Given the description of an element on the screen output the (x, y) to click on. 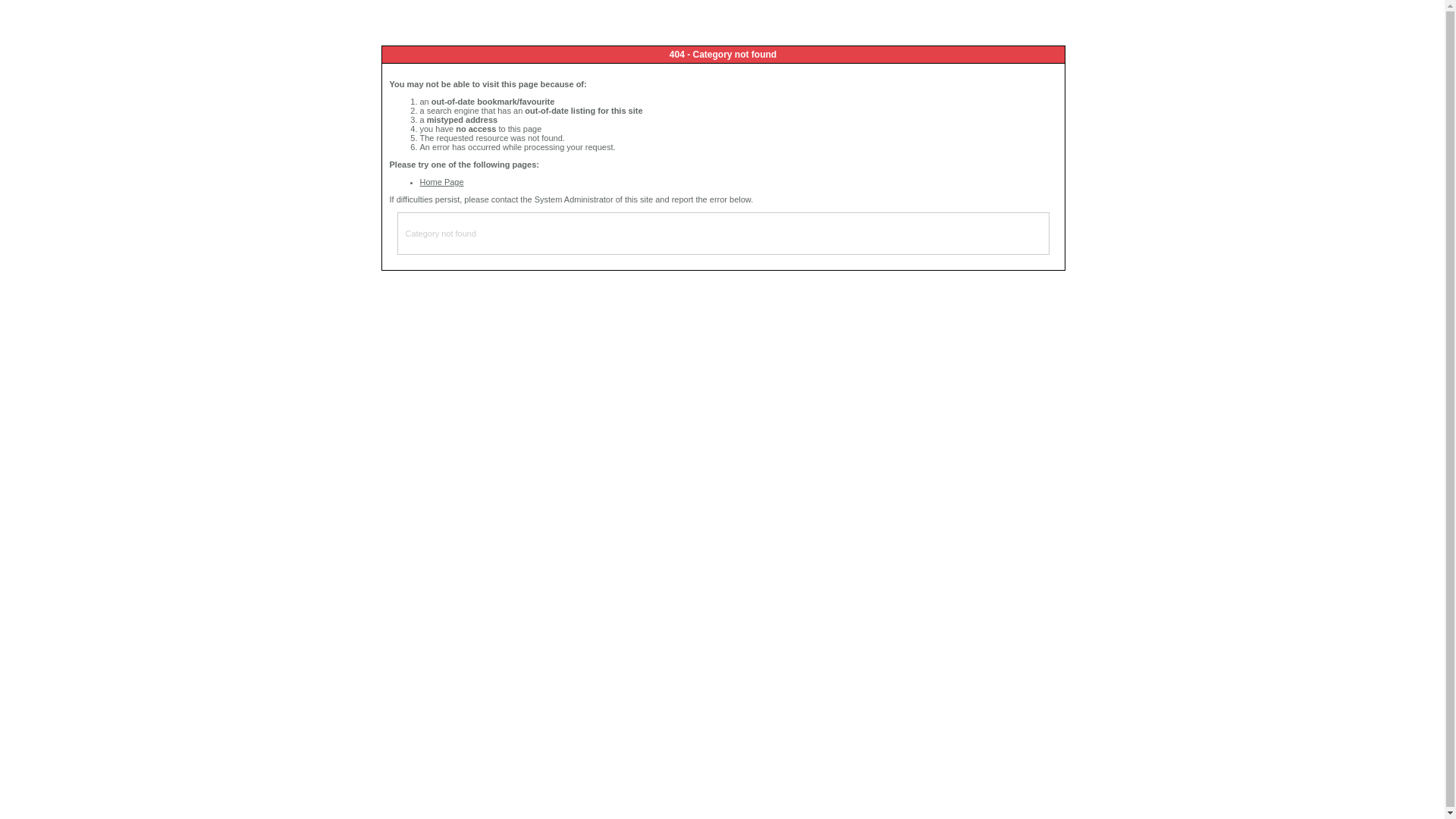
Home Page Element type: text (442, 181)
